Given the description of an element on the screen output the (x, y) to click on. 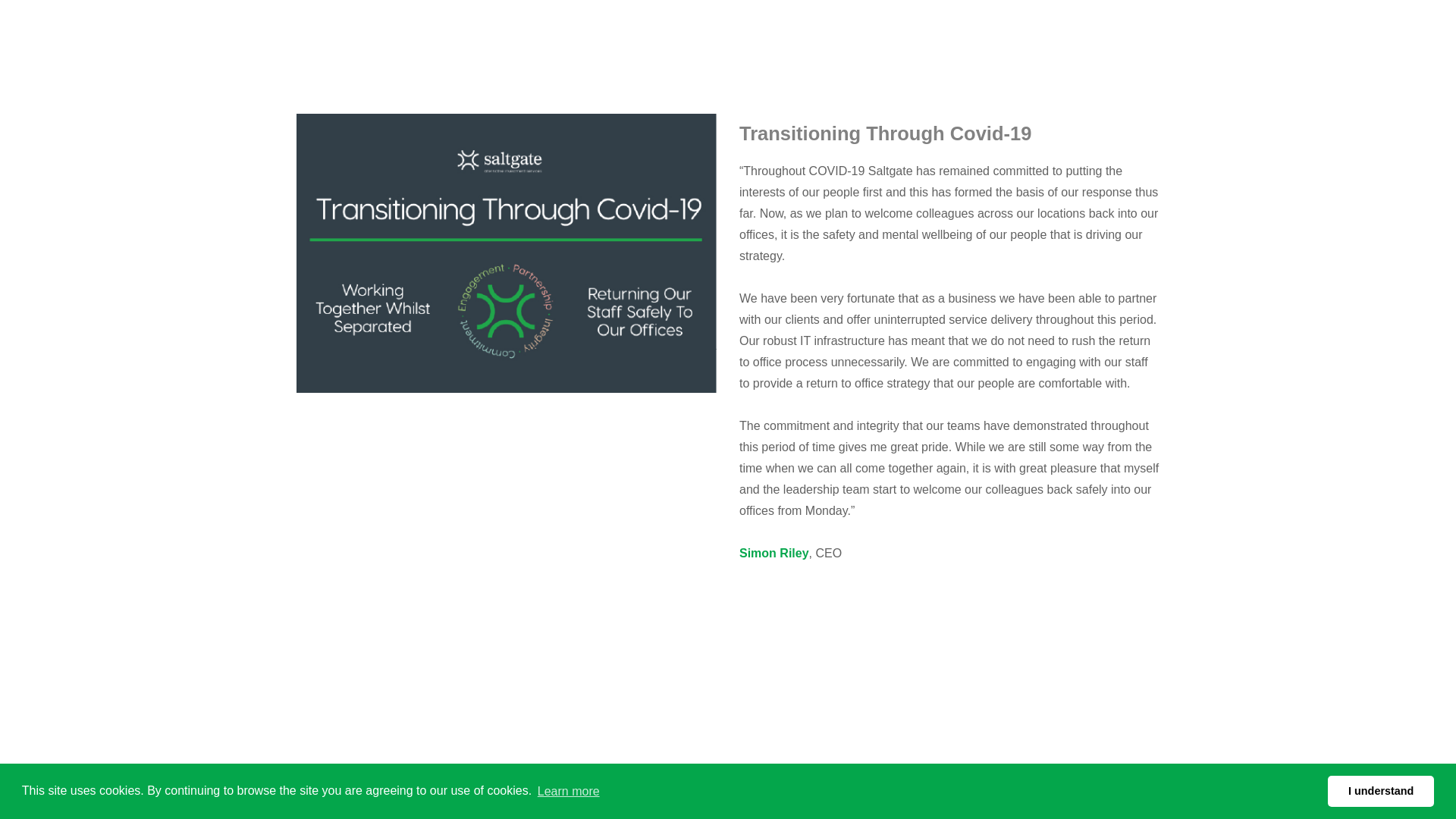
Simon Riley (774, 553)
Covid-19-Saltgate (505, 253)
